Given the description of an element on the screen output the (x, y) to click on. 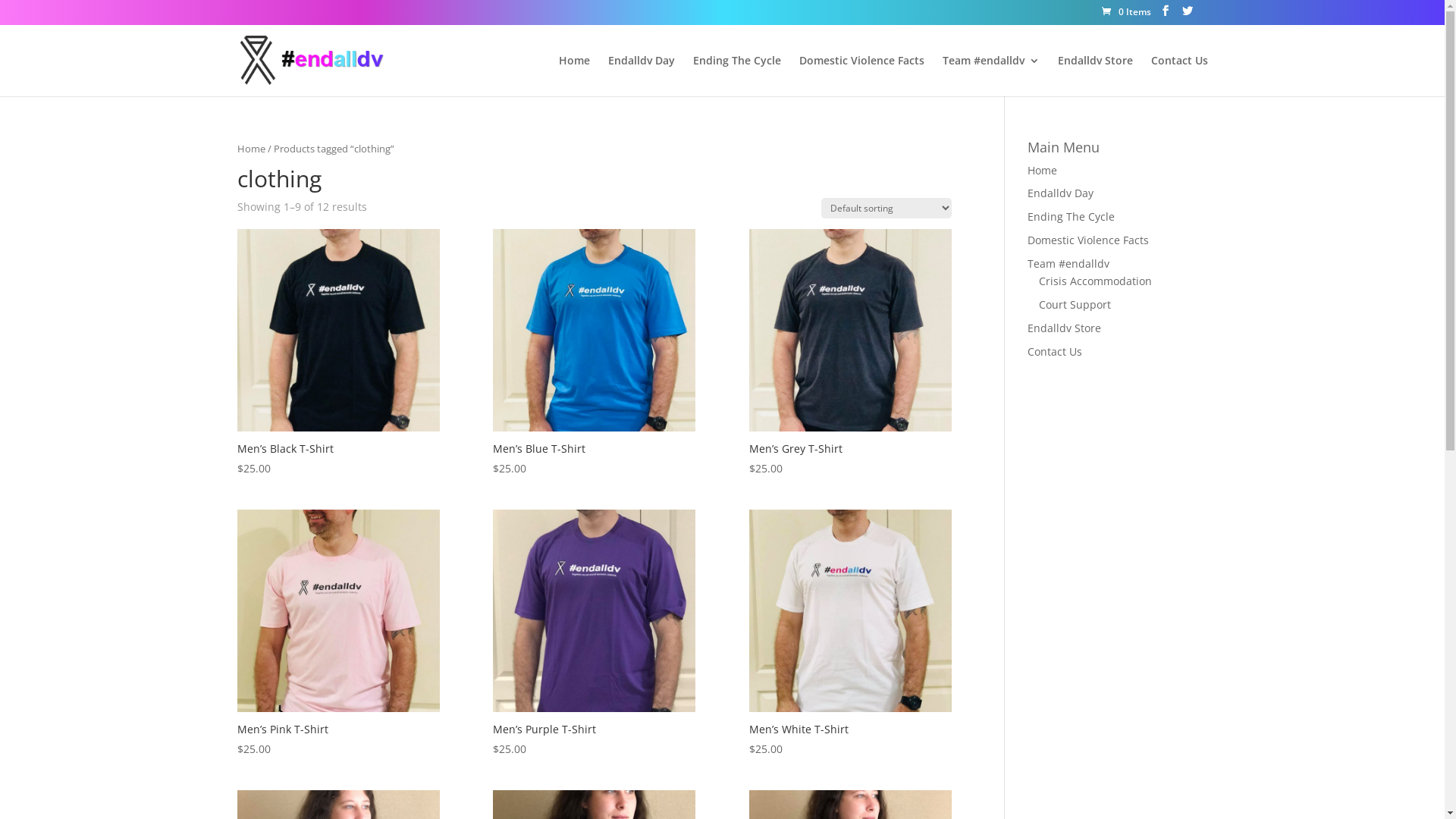
Ending The Cycle Element type: text (1070, 216)
Endalldv Day Element type: text (641, 74)
Home Element type: text (573, 74)
Court Support Element type: text (1074, 304)
Team #endalldv Element type: text (989, 74)
Endalldv Store Element type: text (1094, 74)
0 Items Element type: text (1125, 11)
Domestic Violence Facts Element type: text (1087, 239)
Contact Us Element type: text (1054, 351)
Crisis Accommodation Element type: text (1094, 280)
Team #endalldv Element type: text (1068, 263)
Endalldv Day Element type: text (1060, 192)
Ending The Cycle Element type: text (737, 74)
Contact Us Element type: text (1179, 74)
Home Element type: text (1042, 169)
Home Element type: text (250, 147)
Endalldv Store Element type: text (1064, 327)
Domestic Violence Facts Element type: text (861, 74)
